Given the description of an element on the screen output the (x, y) to click on. 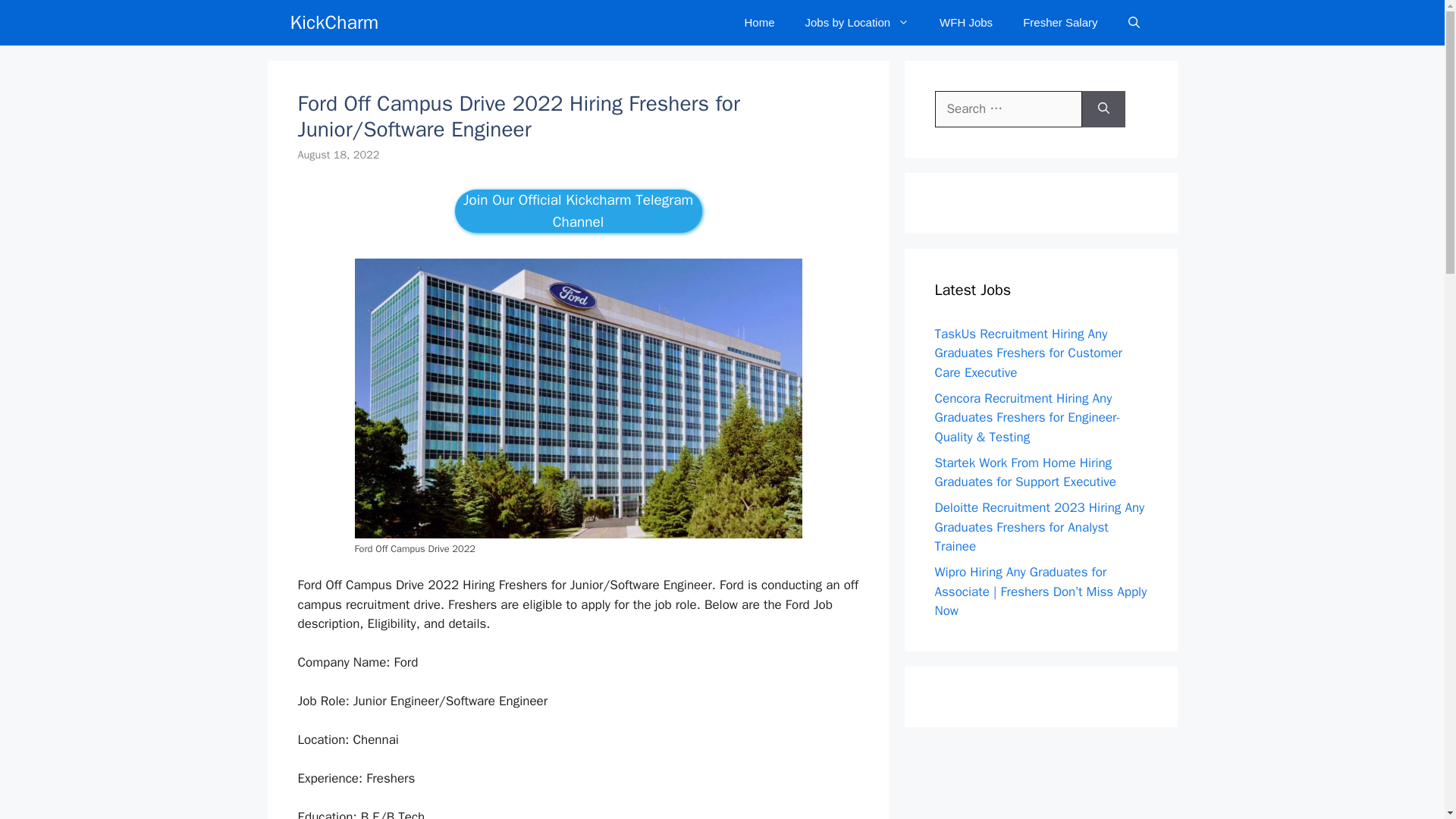
Kickcharm telegram (577, 210)
Ford Off Campus Drive 2022 (578, 398)
Home (759, 22)
Join Our Official Kickcharm Telegram Channel (577, 210)
Jobs by Location (857, 22)
WFH Jobs (965, 22)
Fresher Salary (1059, 22)
KickCharm (333, 22)
Search for: (1007, 108)
